Given the description of an element on the screen output the (x, y) to click on. 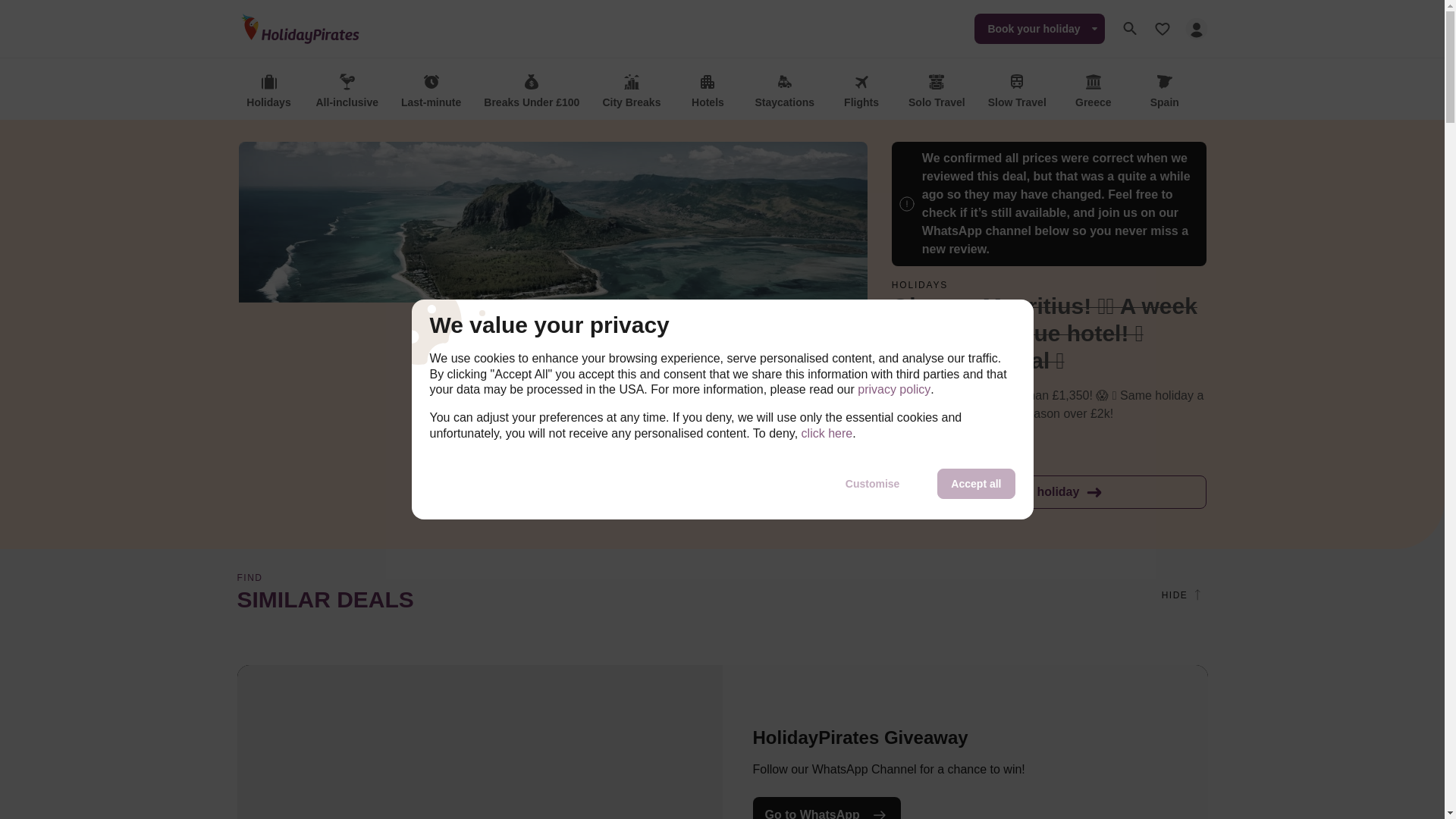
click here (827, 433)
Book holiday (1049, 491)
Holidays (267, 91)
Accept all (975, 483)
HolidayPirates (300, 28)
Customise (872, 483)
Turkey (1236, 91)
Spain (1164, 91)
Cruises (1378, 91)
Flights (861, 91)
